Given the description of an element on the screen output the (x, y) to click on. 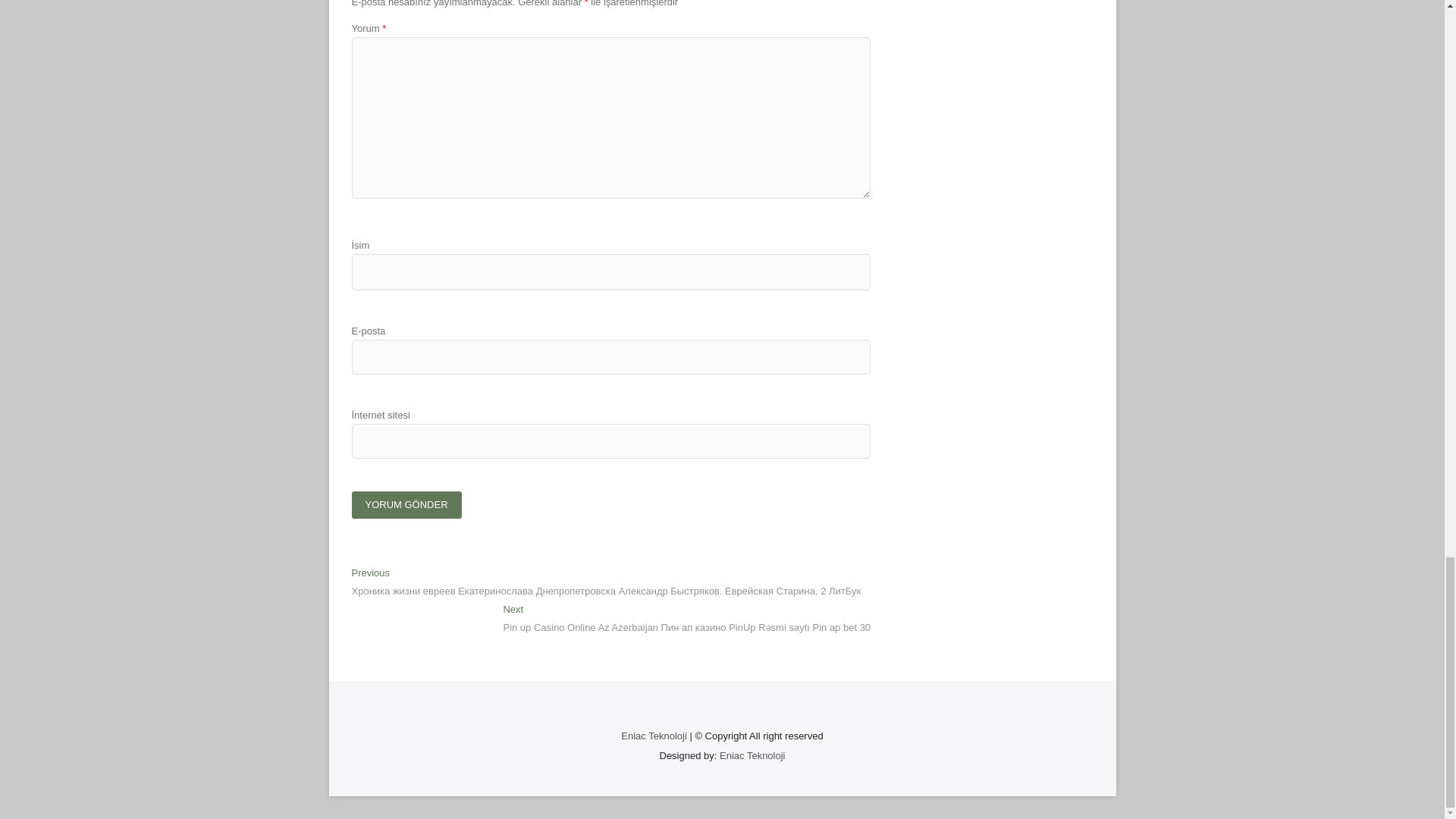
Eniac Teknoloji (653, 736)
Eniac Teknoloji (653, 736)
Eniac Teknoloji (751, 755)
Eniac Teknoloji (751, 755)
